Given the description of an element on the screen output the (x, y) to click on. 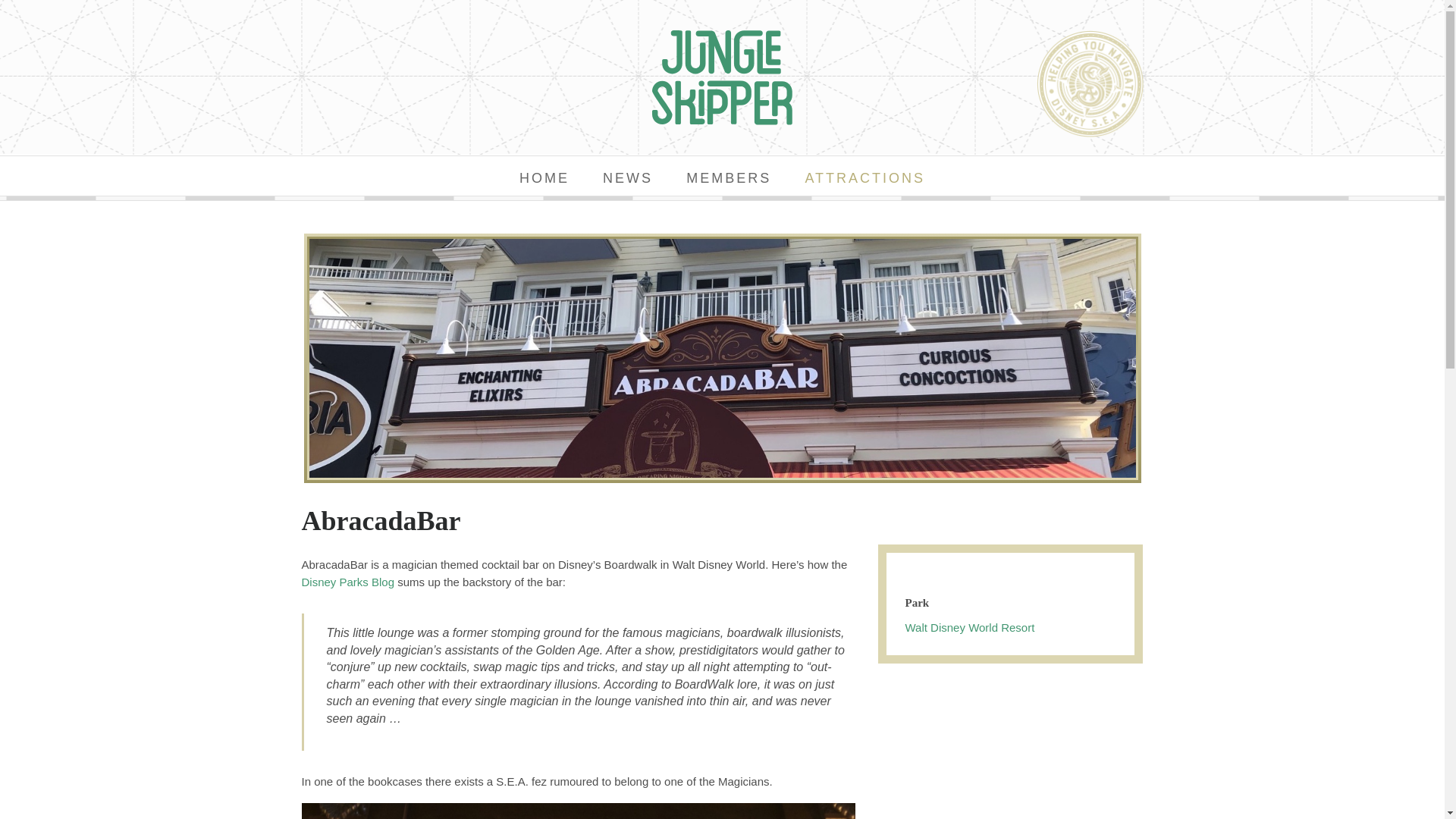
NEWS (628, 180)
ATTRACTIONS (864, 180)
HOME (544, 180)
Disney Parks Blog (347, 581)
MEMBERS (728, 180)
